Given the description of an element on the screen output the (x, y) to click on. 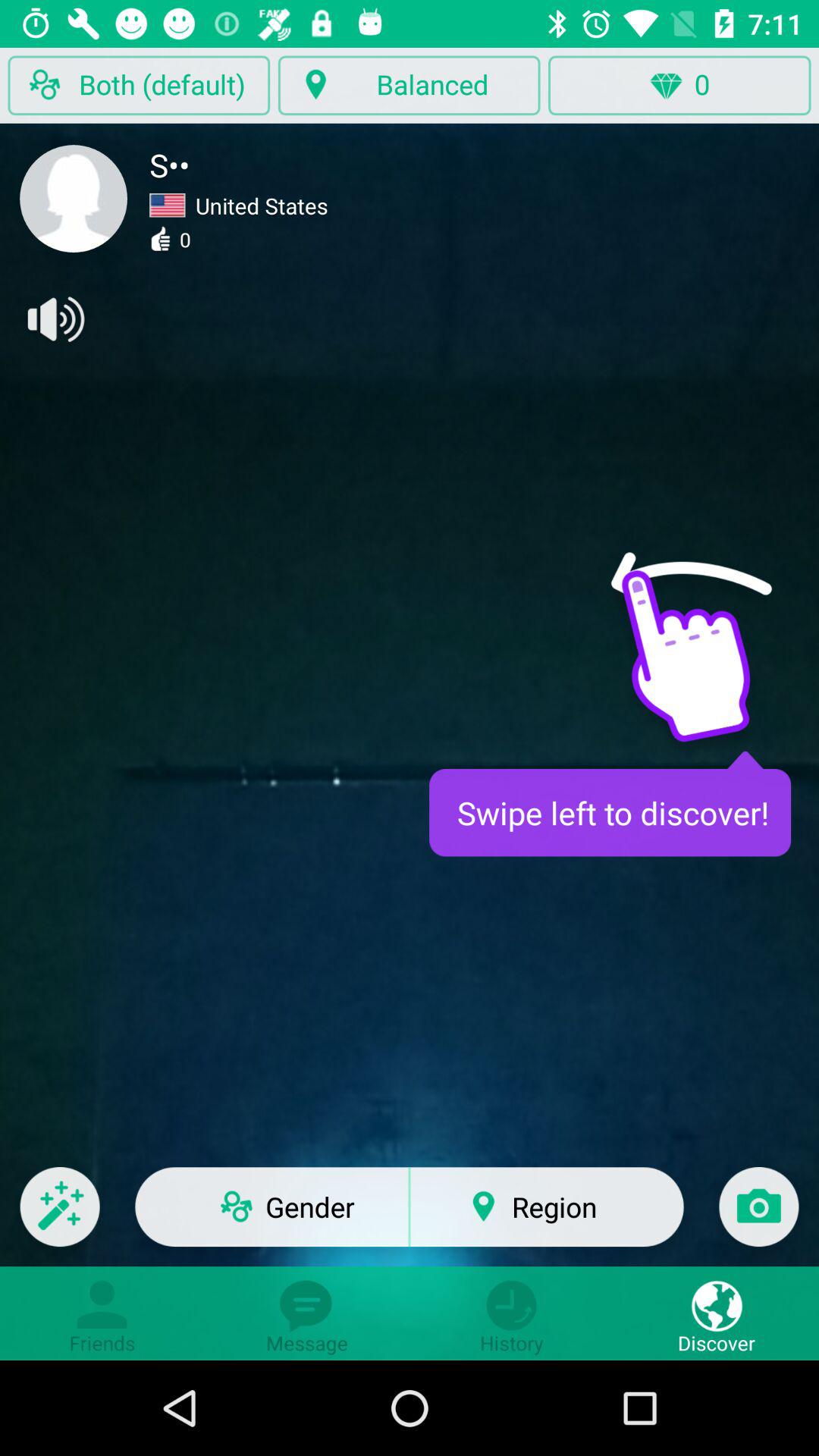
turn on the item above friends icon (59, 1216)
